Given the description of an element on the screen output the (x, y) to click on. 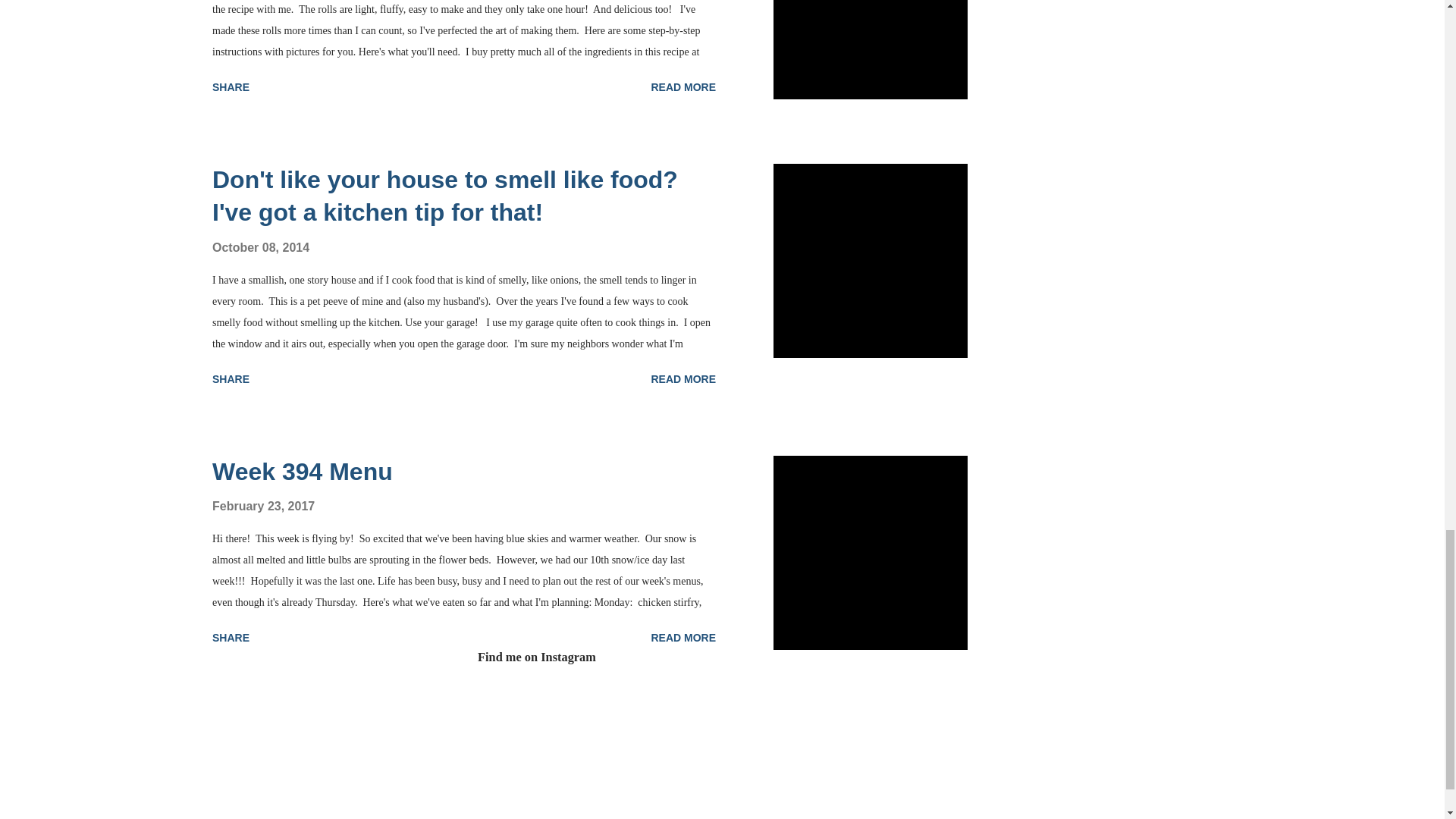
READ MORE (683, 87)
SHARE (231, 87)
